Given the description of an element on the screen output the (x, y) to click on. 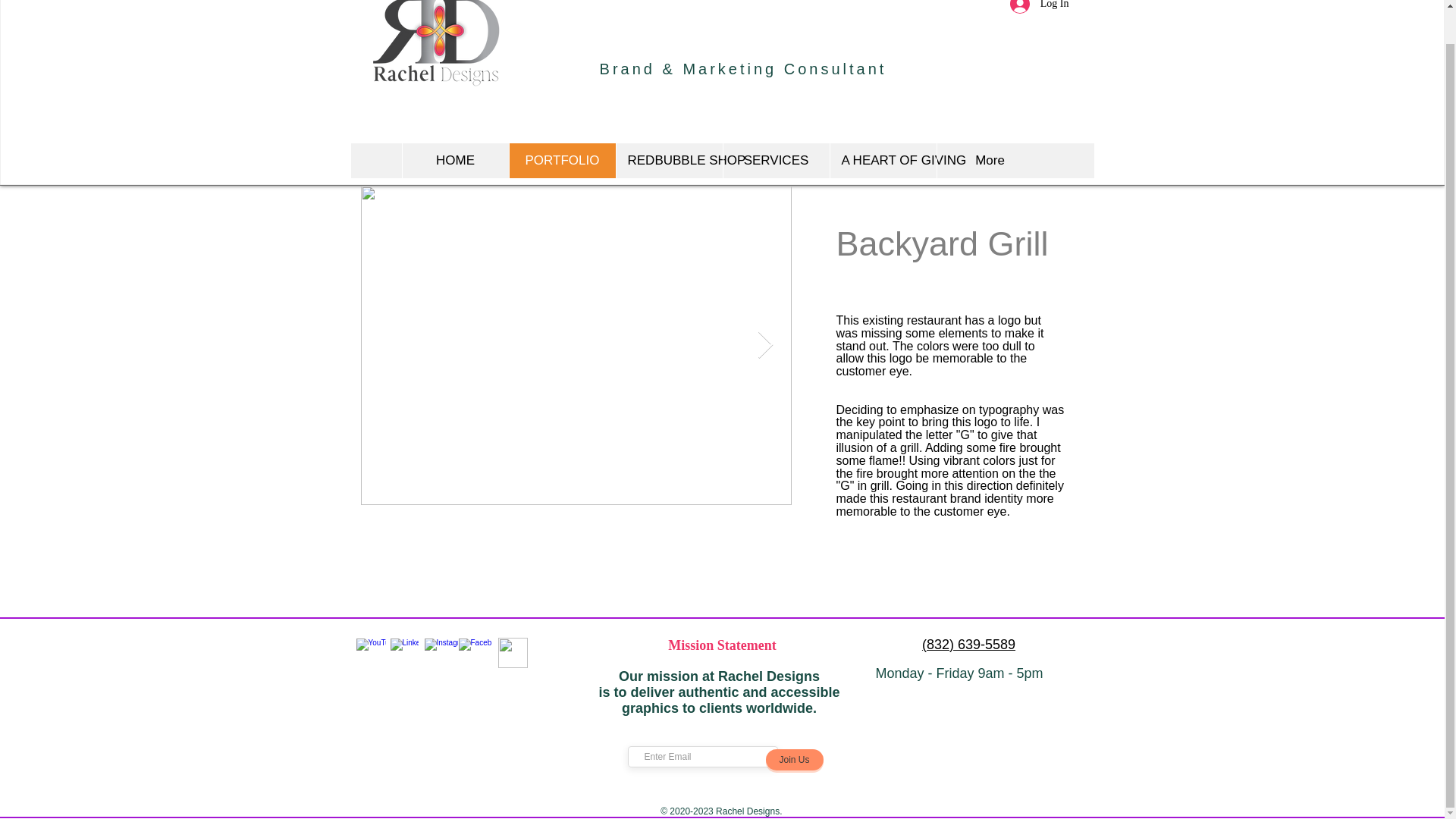
A HEART OF GIVING (882, 160)
Join Us (794, 759)
HOME (454, 160)
REDBUBBLE SHOP (668, 160)
PORTFOLIO (561, 160)
Log In (1039, 9)
SERVICES (775, 160)
